Given the description of an element on the screen output the (x, y) to click on. 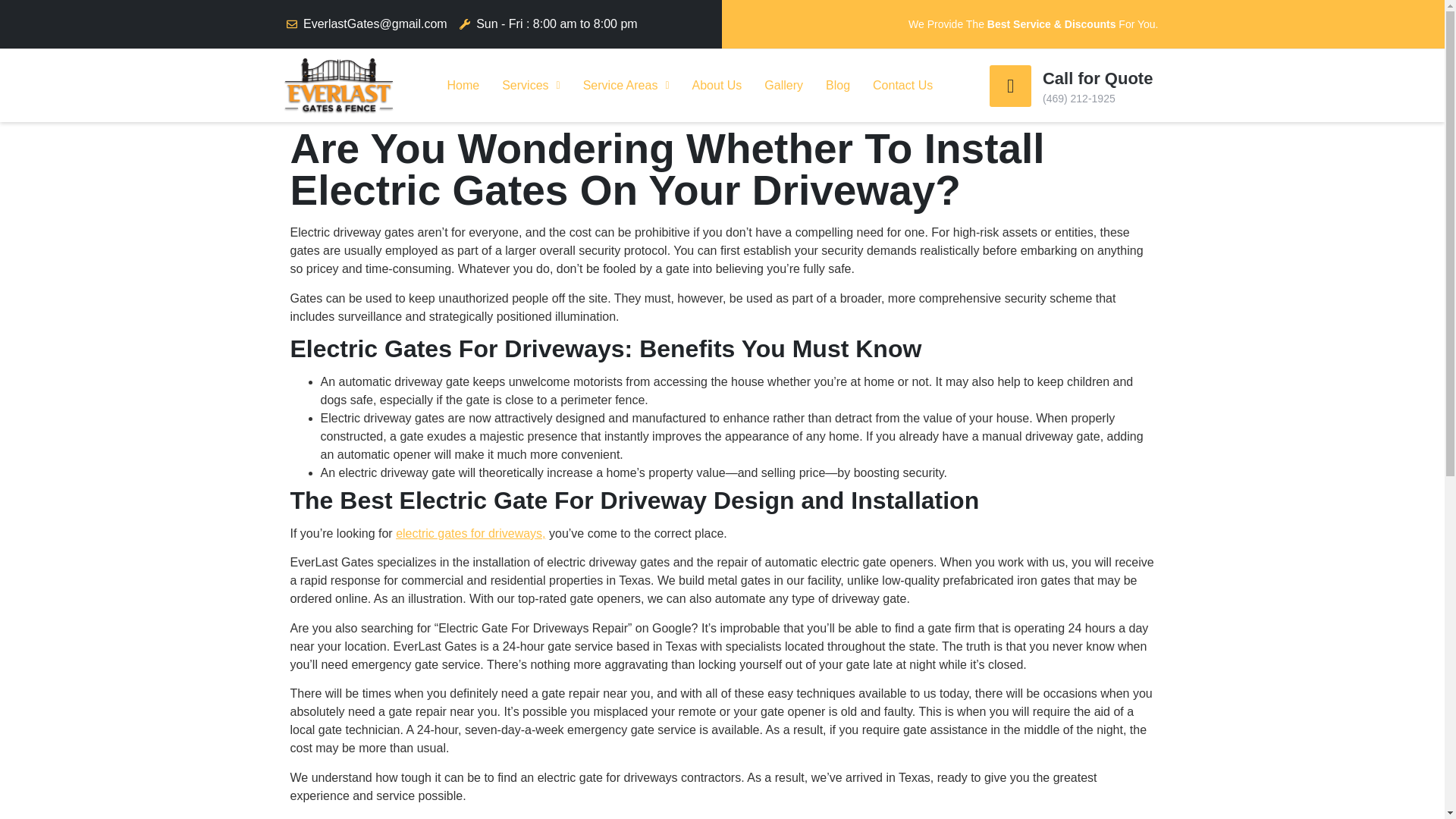
Gallery (782, 85)
Home (462, 85)
About Us (717, 85)
Contact Us (902, 85)
Services (530, 85)
Blog (837, 85)
Service Areas (626, 85)
electric gates for driveways, (470, 533)
